Given the description of an element on the screen output the (x, y) to click on. 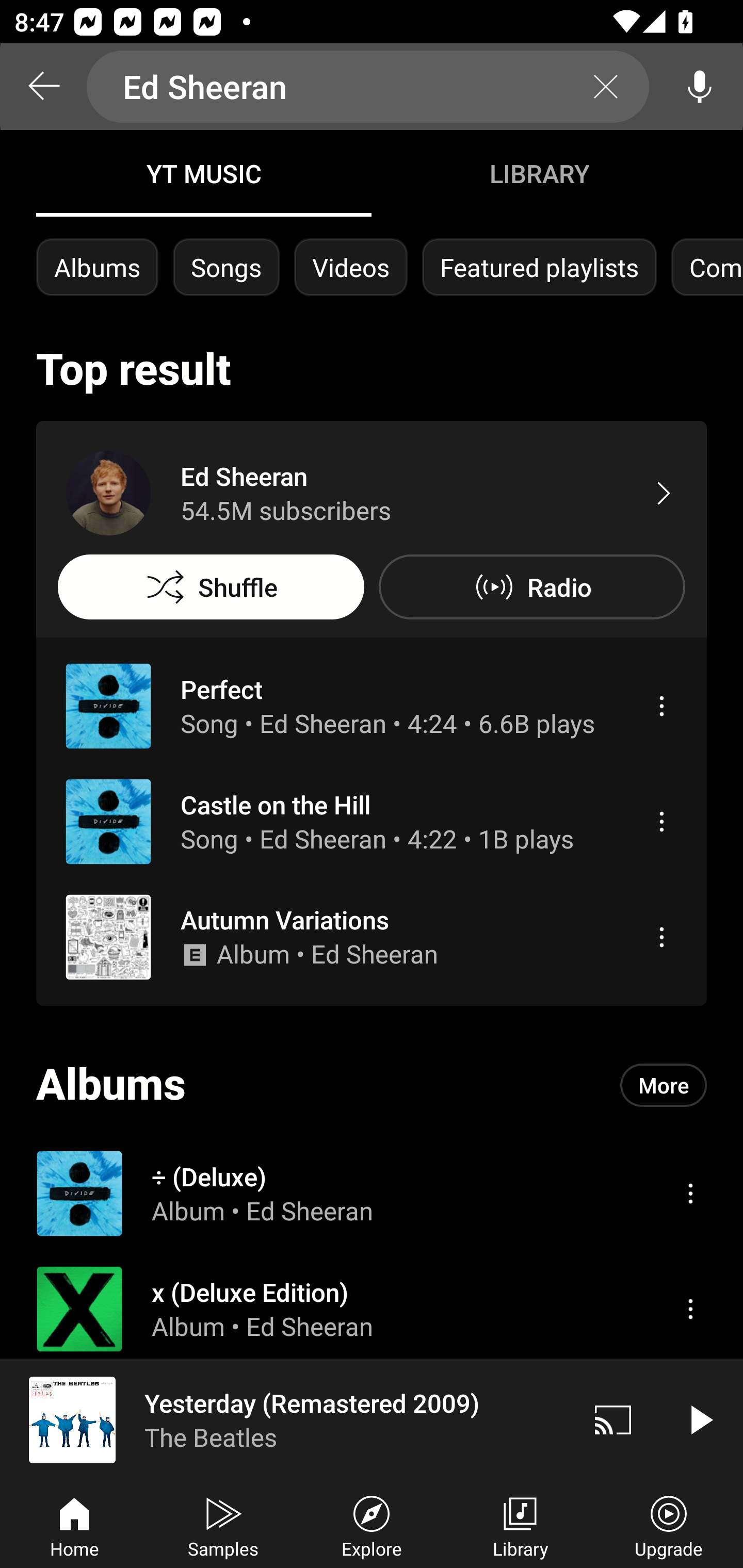
Search back (43, 86)
Ed Sheeran (367, 86)
Clear search (605, 86)
Voice search (699, 86)
Library LIBRARY (538, 173)
Shuffle (210, 587)
Radio (531, 587)
Menu (661, 705)
Menu (661, 821)
Menu (661, 937)
Albums More More (371, 1084)
More (663, 1085)
Menu (690, 1193)
Menu (690, 1309)
Yesterday (Remastered 2009) The Beatles (284, 1419)
Cast. Disconnected (612, 1419)
Play video (699, 1419)
Home (74, 1524)
Samples (222, 1524)
Explore (371, 1524)
Library (519, 1524)
Upgrade (668, 1524)
